Given the description of an element on the screen output the (x, y) to click on. 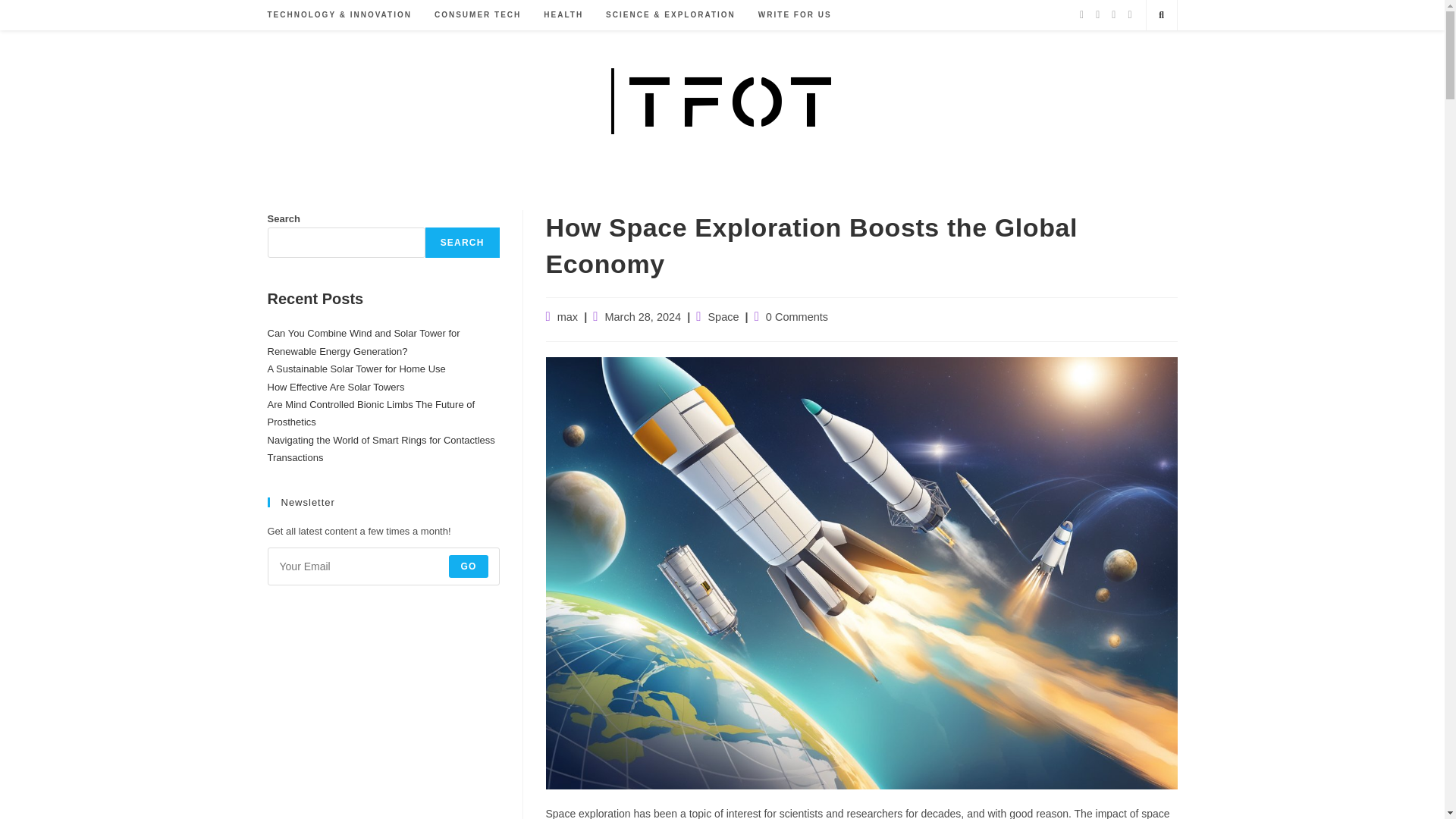
CONSUMER TECH (477, 15)
Posts by max (567, 316)
WRITE FOR US (794, 15)
HEALTH (563, 15)
